Given the description of an element on the screen output the (x, y) to click on. 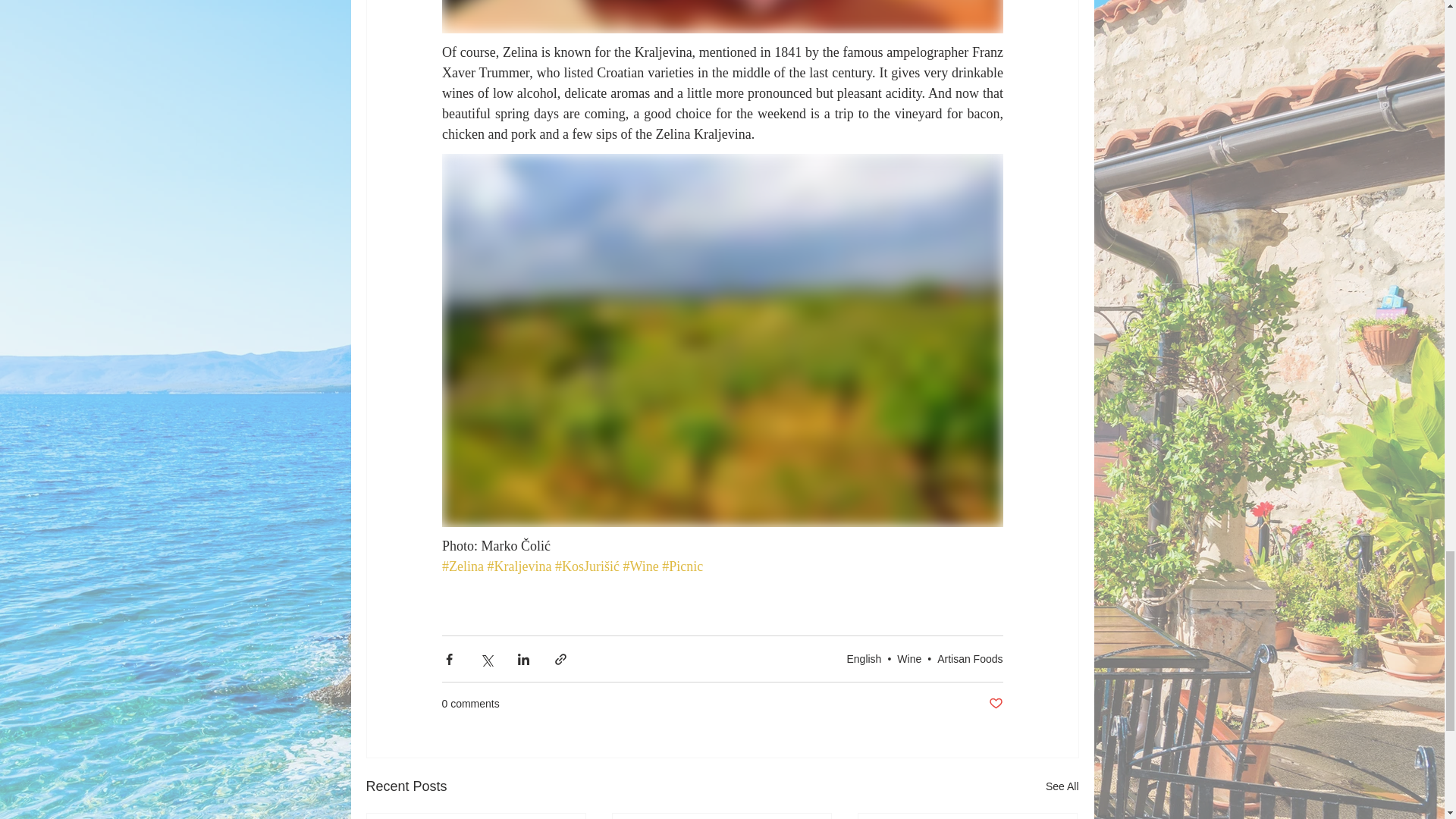
See All (1061, 786)
English (862, 658)
Wine (908, 658)
Artisan Foods (970, 658)
Post not marked as liked (995, 703)
